Given the description of an element on the screen output the (x, y) to click on. 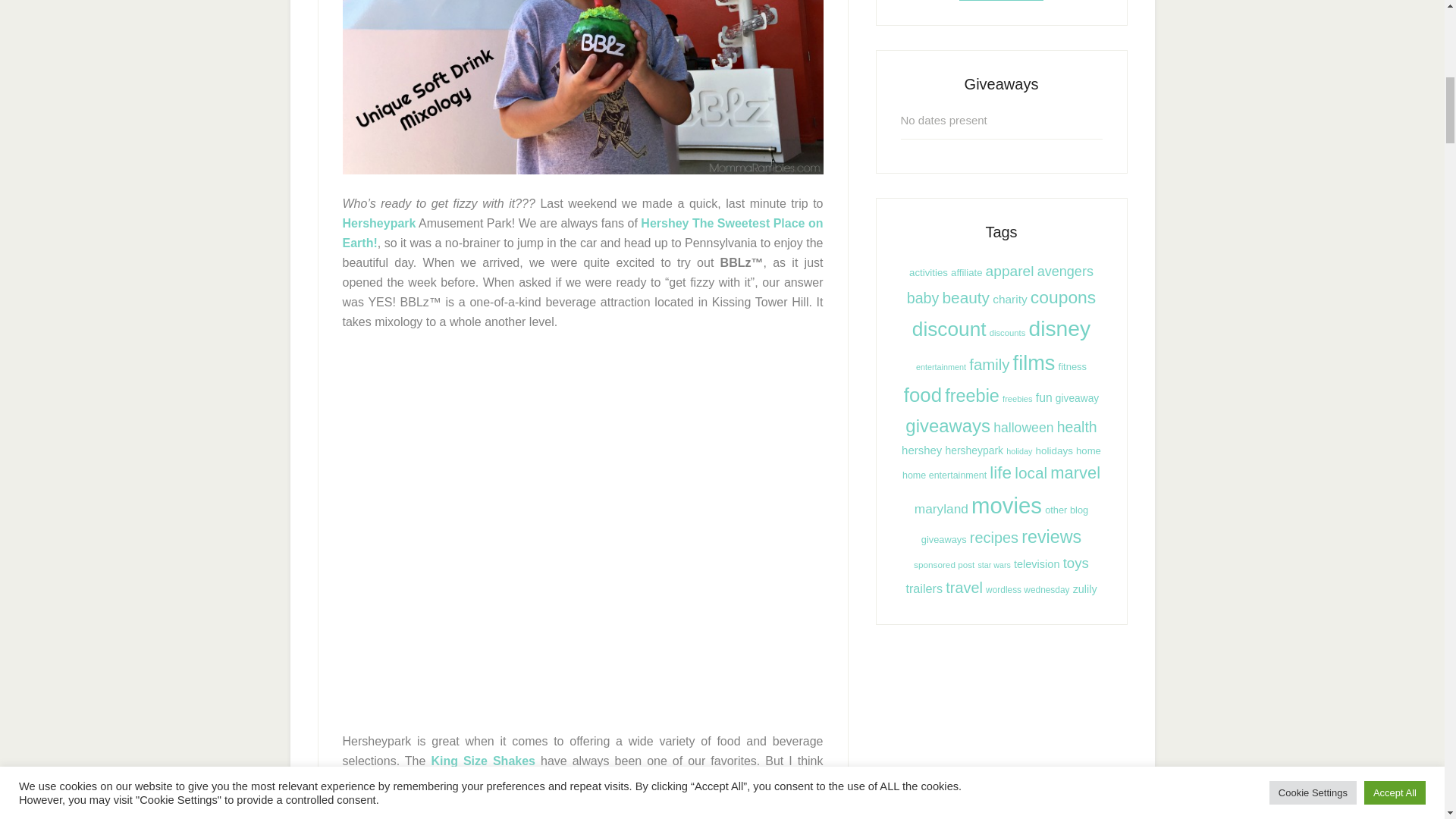
Hersheypark (379, 223)
King Size Shakes (482, 760)
Hershey The Sweetest Place on Earth! (583, 233)
